Given the description of an element on the screen output the (x, y) to click on. 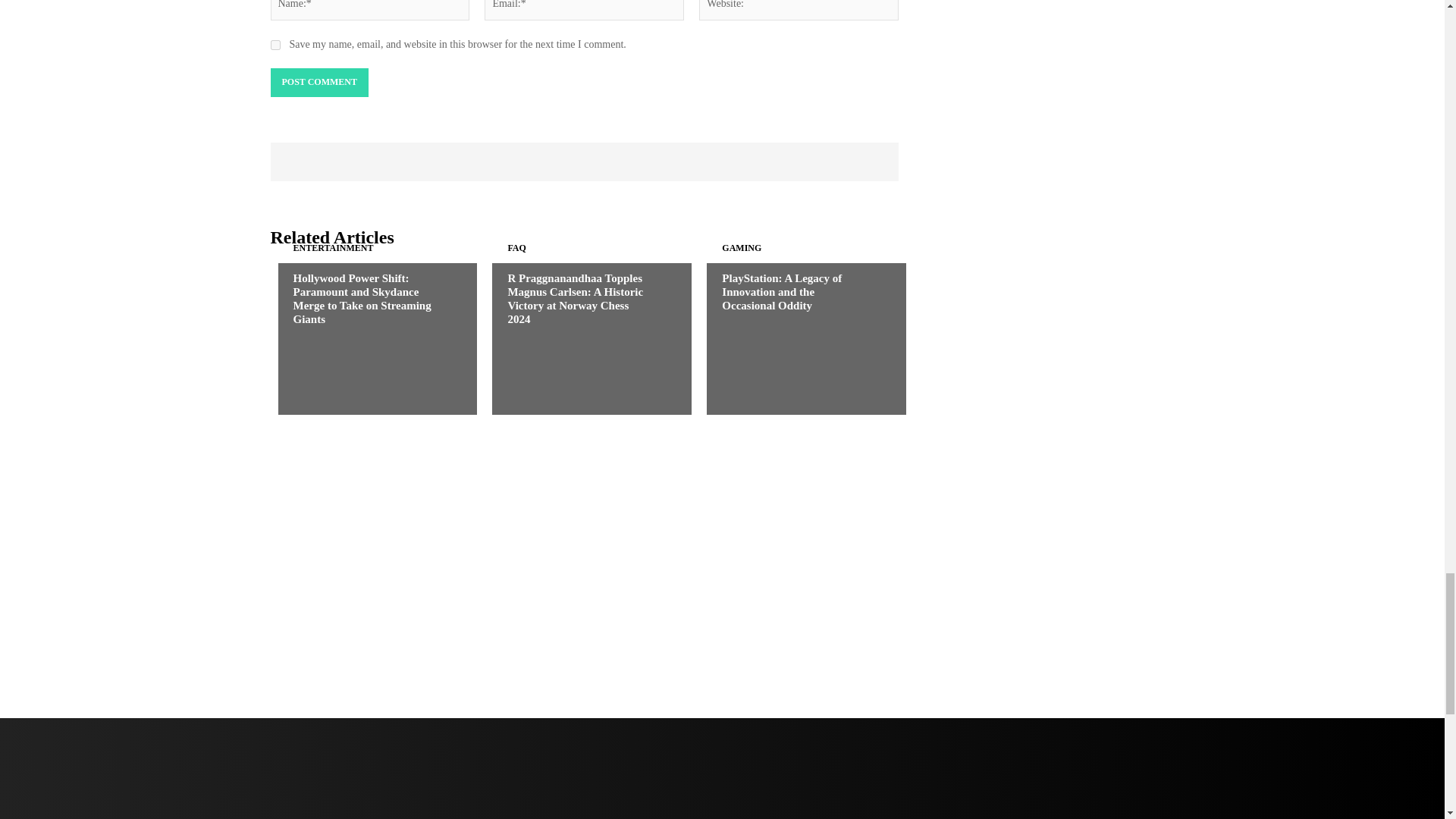
Post Comment (318, 82)
yes (274, 44)
